Given the description of an element on the screen output the (x, y) to click on. 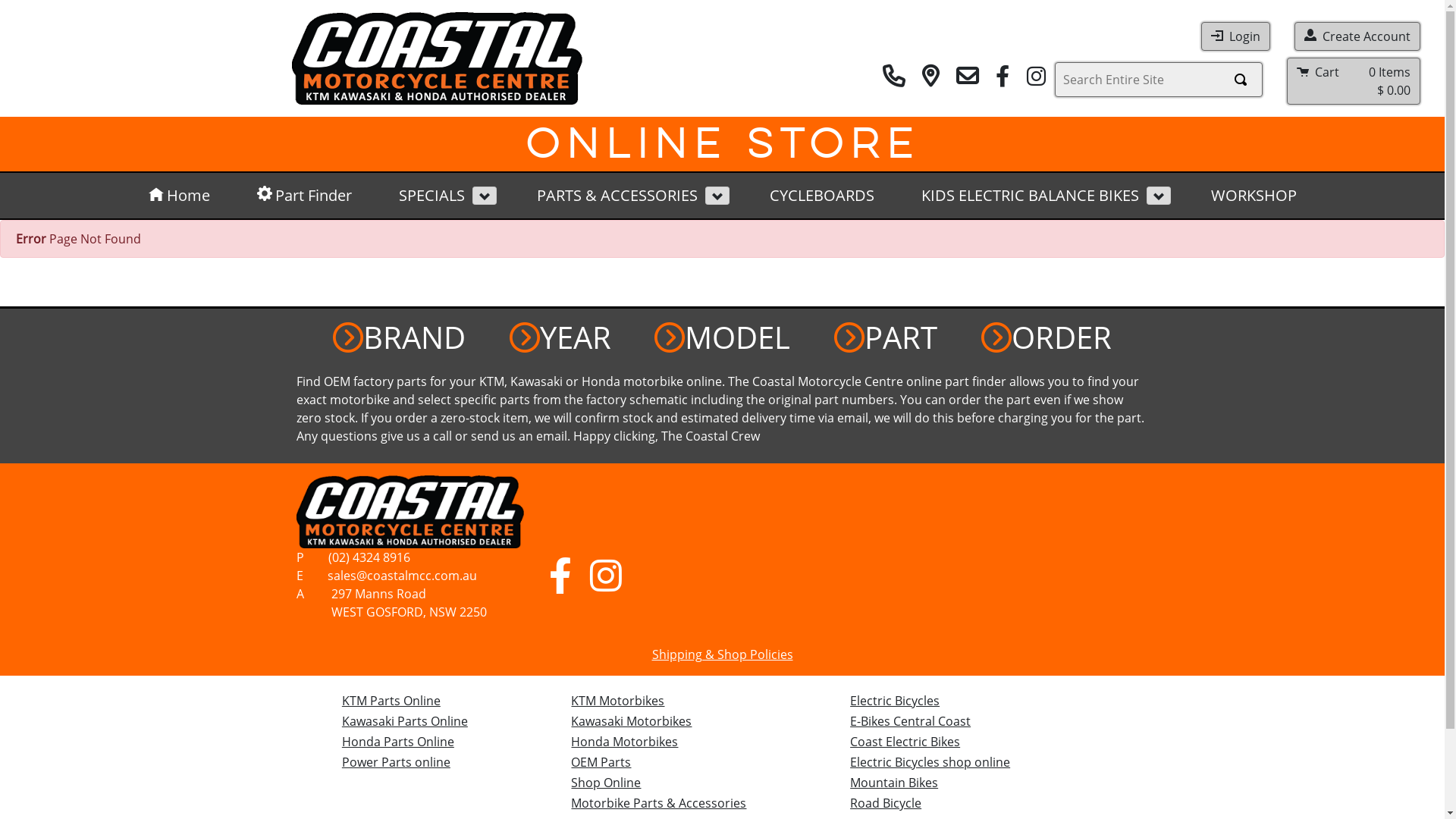
PARTS & ACCESSORIES Element type: text (609, 195)
KTM Parts Online Element type: text (391, 700)
Kawasaki Motorbikes Element type: text (631, 720)
Motorbike Parts & Accessories Element type: text (658, 802)
SPECIALS Element type: text (424, 195)
OEM Parts Element type: text (600, 761)
Coast Electric Bikes Element type: text (905, 741)
Honda Parts Online Element type: text (398, 741)
Kawasaki Parts Online Element type: text (404, 720)
(02) 4324 8916 Element type: text (352, 557)
Power Parts online Element type: text (396, 761)
Mountain Bikes Element type: text (894, 782)
sales@coastalmcc.com.au Element type: text (385, 575)
CYCLEBOARDS Element type: text (821, 195)
Home Element type: text (178, 195)
KIDS ELECTRIC BALANCE BIKES Element type: text (1021, 195)
Login Element type: text (1235, 35)
Part Finder Element type: text (303, 195)
Shop Online Element type: text (605, 782)
Honda Motorbikes Element type: text (624, 741)
ONLINE STORE Element type: text (721, 143)
Create Account Element type: text (1357, 35)
KTM Motorbikes Element type: text (617, 700)
E-Bikes Central Coast Element type: text (910, 720)
WORKSHOP Element type: text (1252, 195)
Road Bicycle Element type: text (885, 802)
Electric Bicycles Element type: text (894, 700)
Shipping & Shop Policies Element type: text (722, 654)
Cart
0
0.00 Element type: text (1353, 80)
Electric Bicycles shop online Element type: text (930, 761)
